Given the description of an element on the screen output the (x, y) to click on. 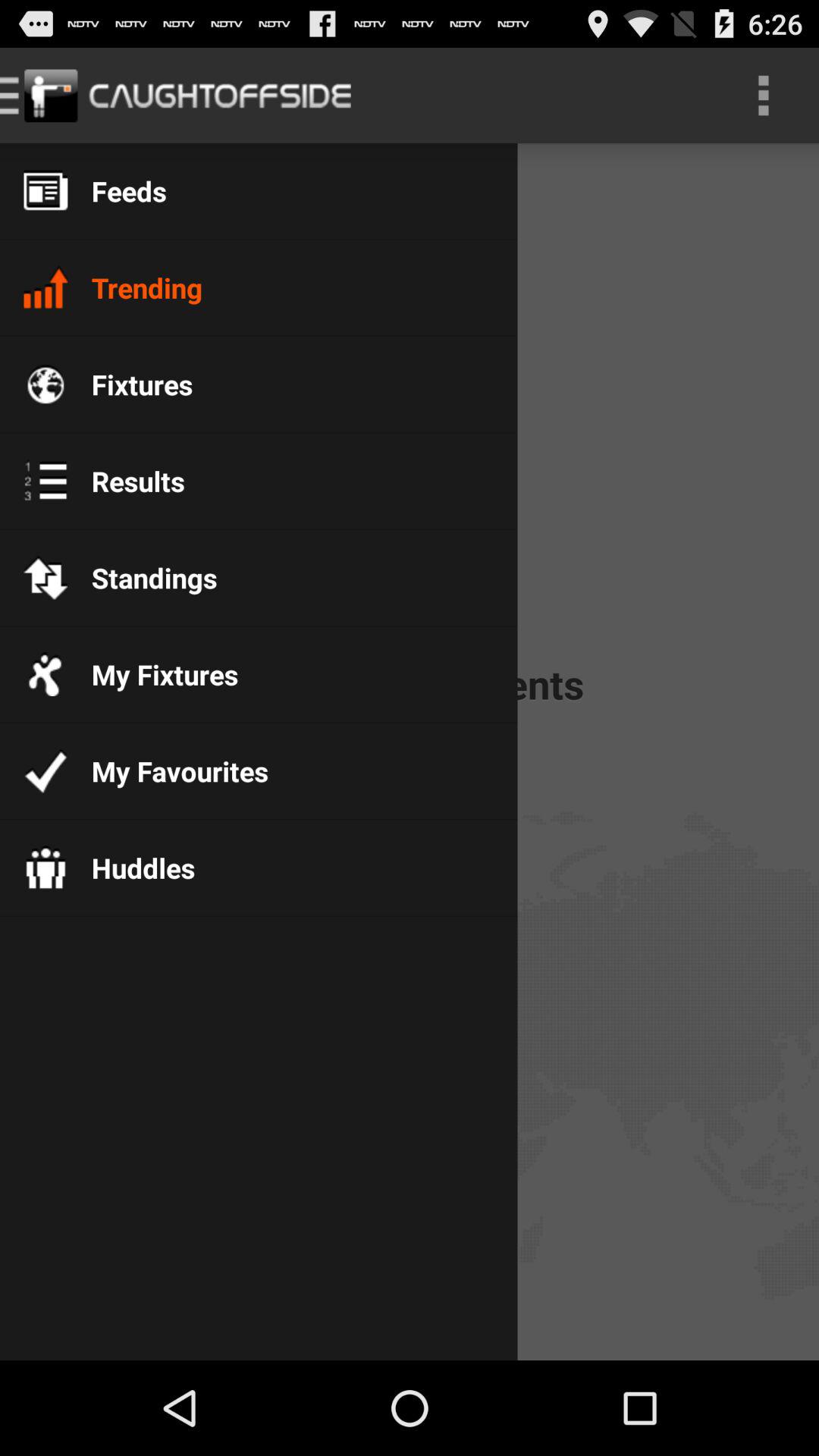
tap the huddles (131, 867)
